Given the description of an element on the screen output the (x, y) to click on. 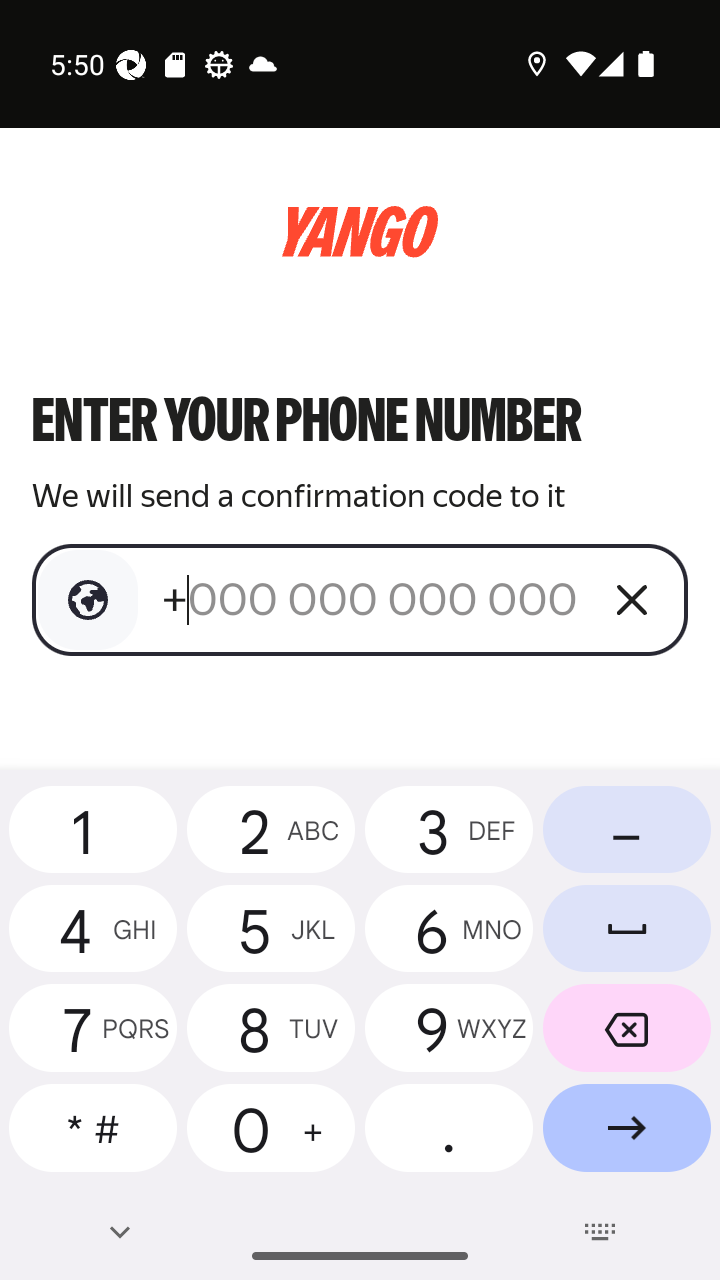
logo (359, 231)
  (88, 600)
+ (372, 599)
